Given the description of an element on the screen output the (x, y) to click on. 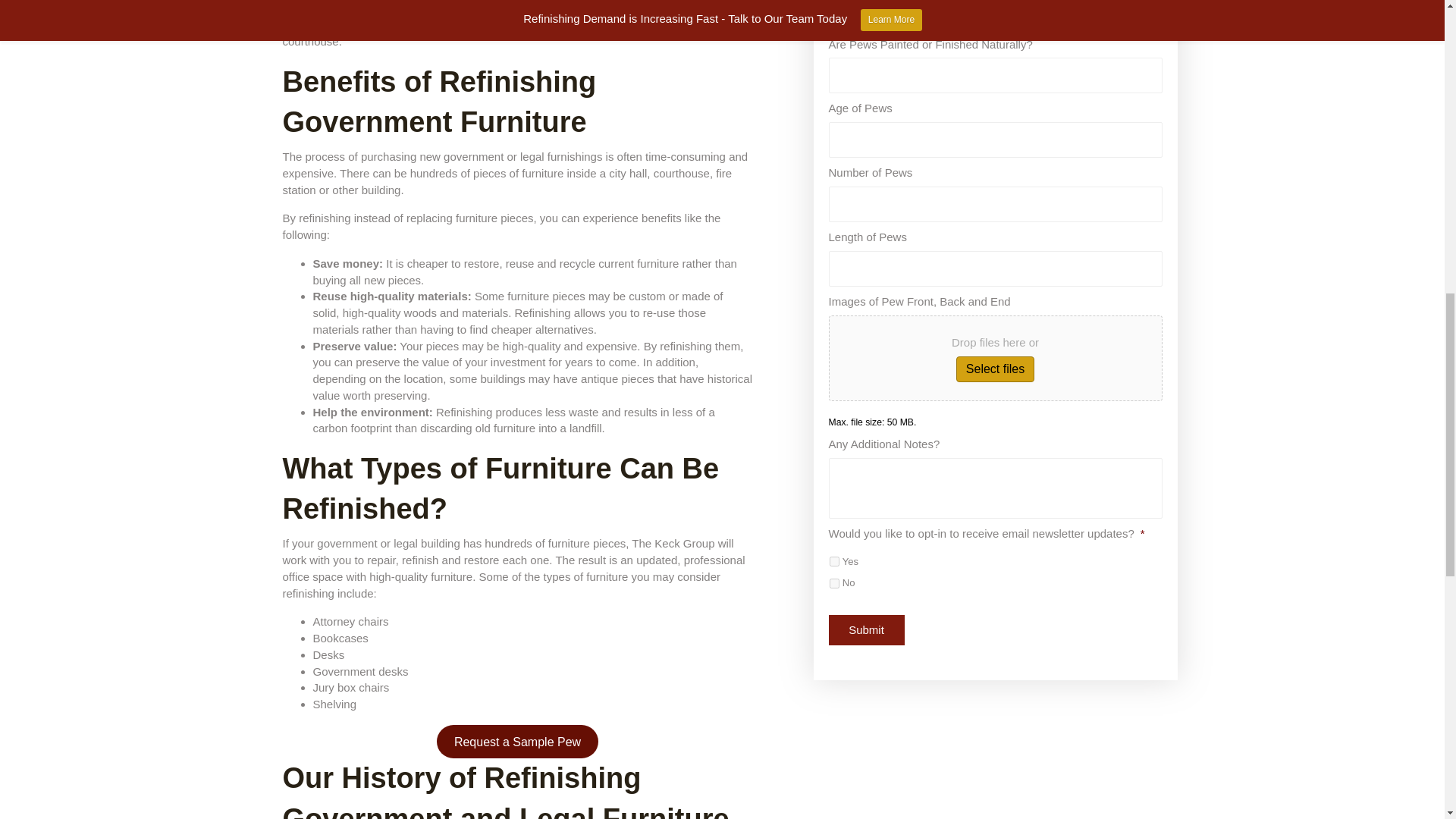
Submit (866, 630)
Request a Sample Pew (517, 741)
No (834, 583)
Yes (834, 561)
